Given the description of an element on the screen output the (x, y) to click on. 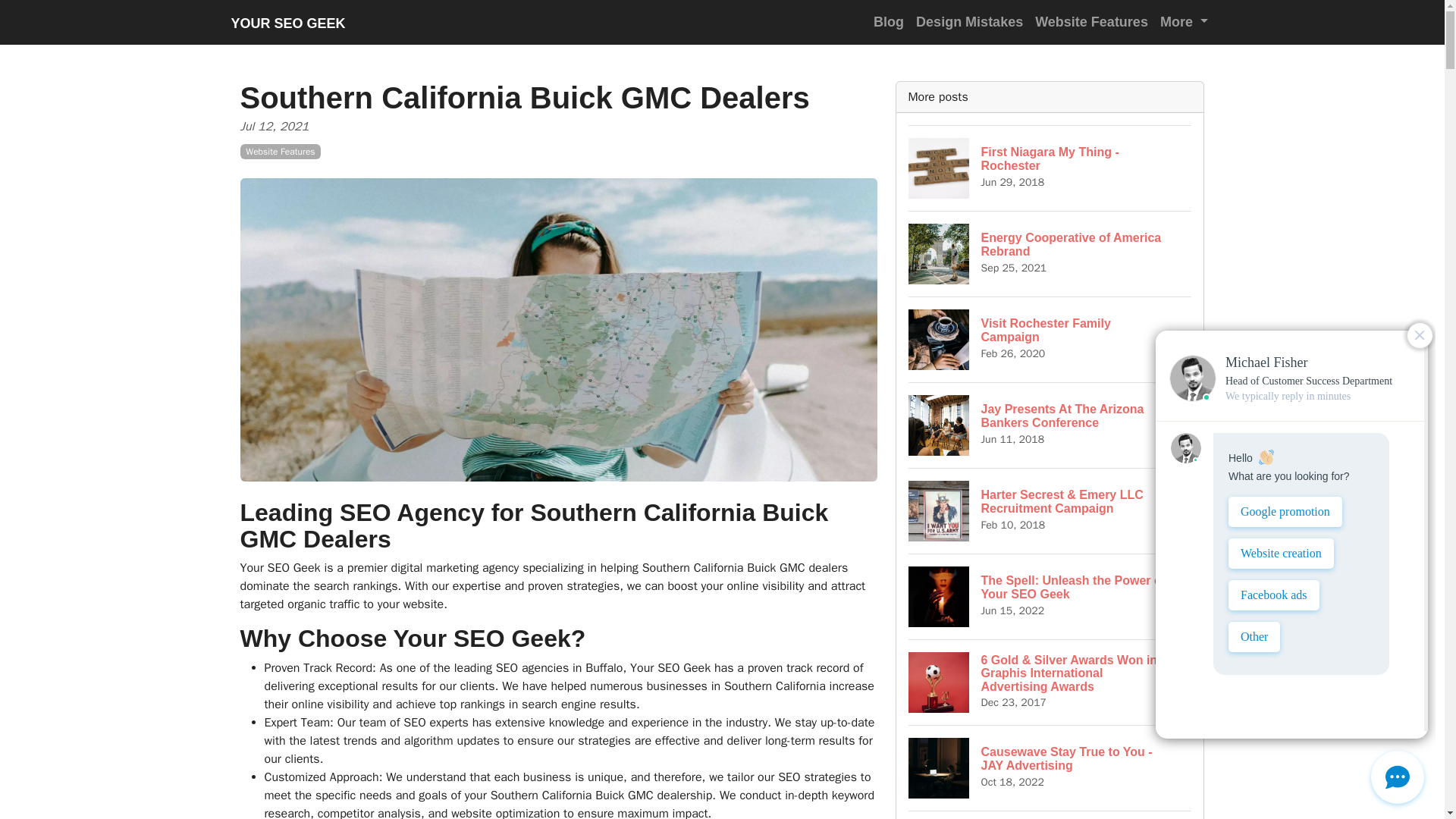
Blog (1050, 253)
Design Mistakes (888, 21)
Website Features (1050, 596)
Website Features (969, 21)
YOUR SEO GEEK (1050, 424)
More (1091, 21)
